Given the description of an element on the screen output the (x, y) to click on. 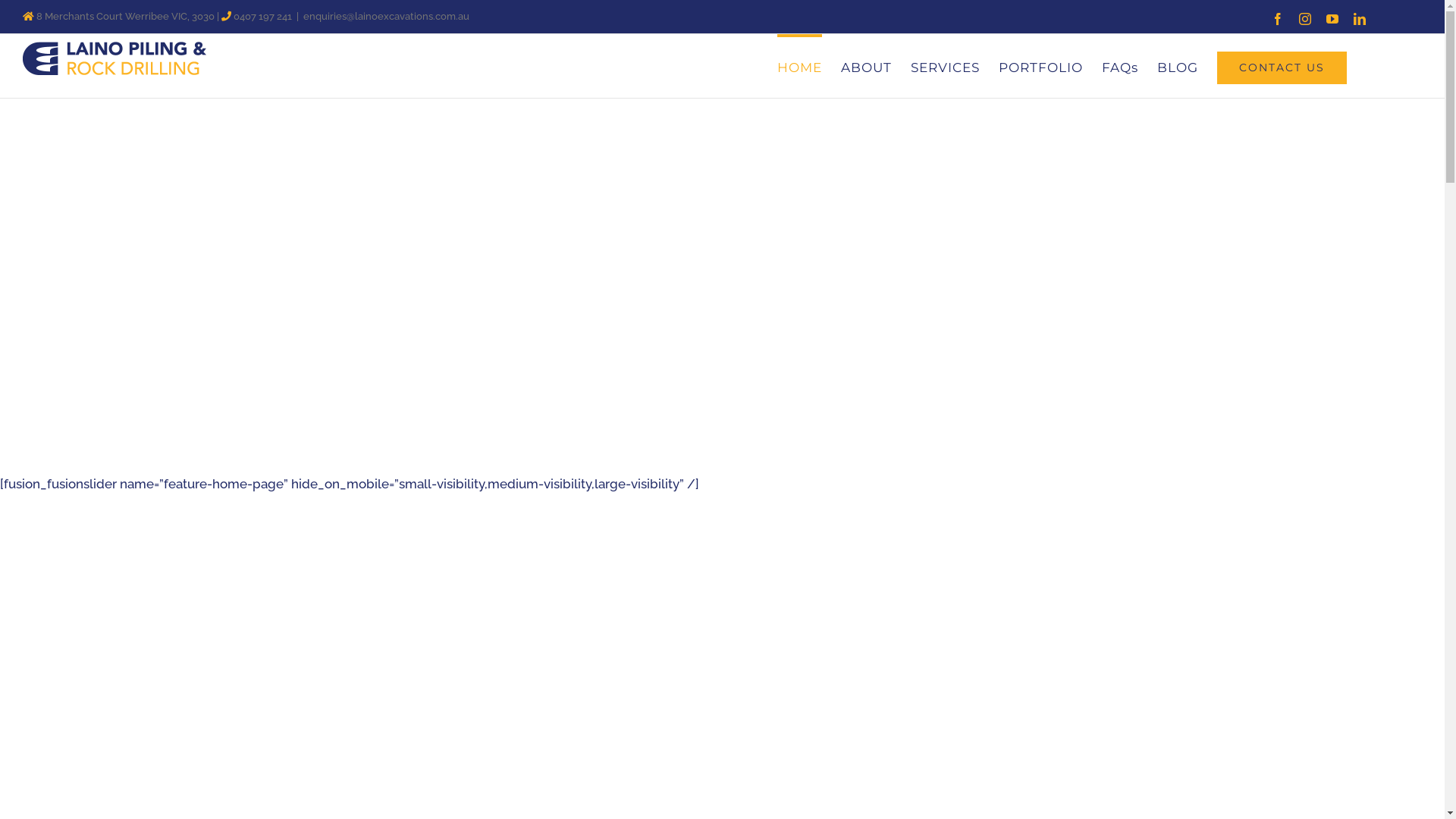
SERVICES Element type: text (944, 65)
CONTACT US Element type: text (1281, 65)
FAQs Element type: text (1119, 65)
Facebook Element type: text (1277, 18)
BLOG Element type: text (1177, 65)
YouTube Element type: text (1332, 18)
HOME Element type: text (799, 65)
8 Merchants Court Werribee VIC, 3030 Element type: text (125, 15)
Instagram Element type: text (1305, 18)
LinkedIn Element type: text (1359, 18)
PORTFOLIO Element type: text (1040, 65)
enquiries@lainoexcavations.com.au Element type: text (386, 15)
0407 197 241 Element type: text (262, 15)
ABOUT Element type: text (865, 65)
